Given the description of an element on the screen output the (x, y) to click on. 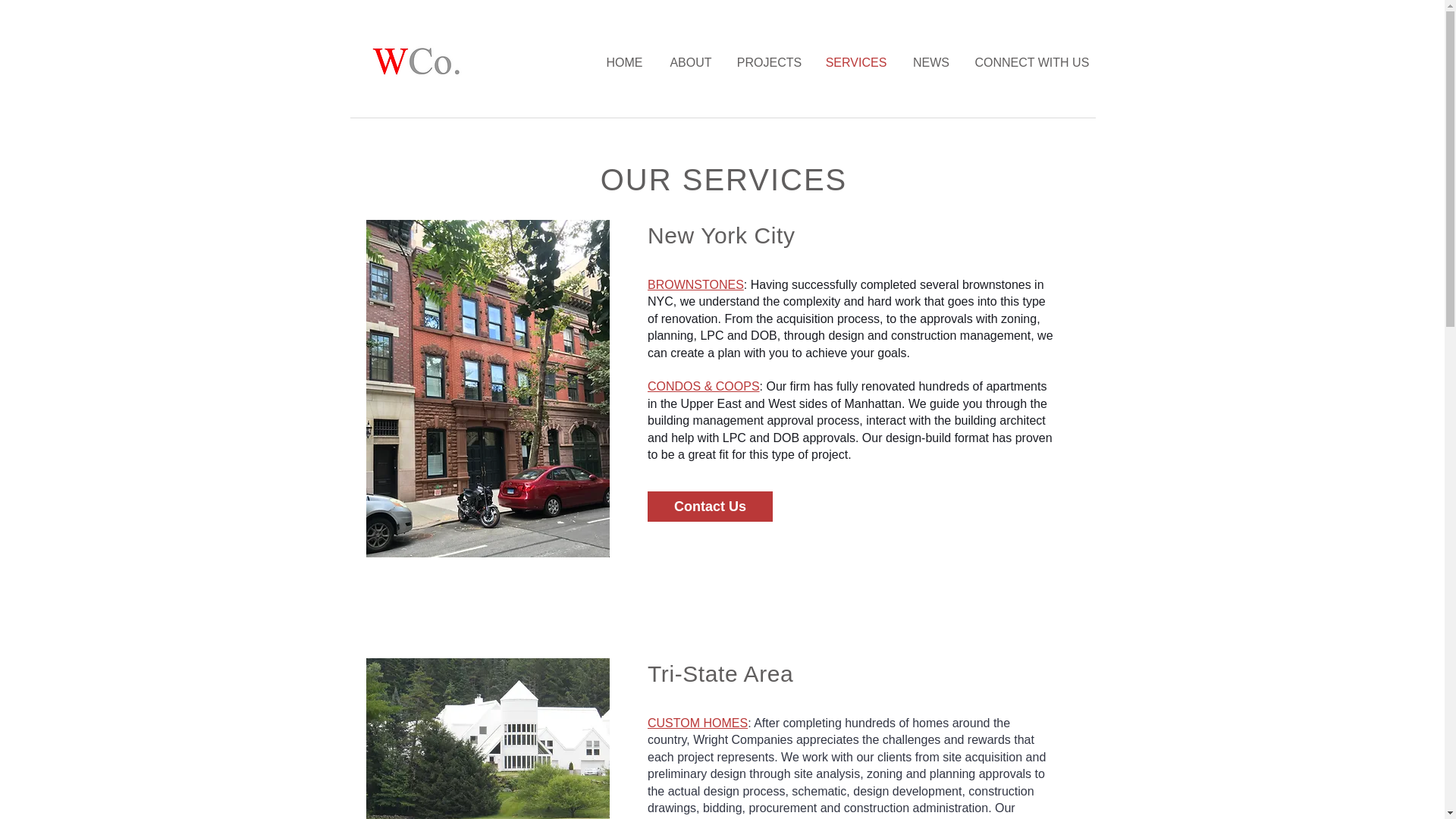
CUSTOM HOMES (697, 722)
NEWS (931, 62)
BROWNSTONES (695, 284)
ABOUT (690, 62)
SERVICES (855, 62)
PROJECTS (768, 62)
CONNECT WITH US (1027, 62)
HOME (624, 62)
Contact Us (710, 506)
